Given the description of an element on the screen output the (x, y) to click on. 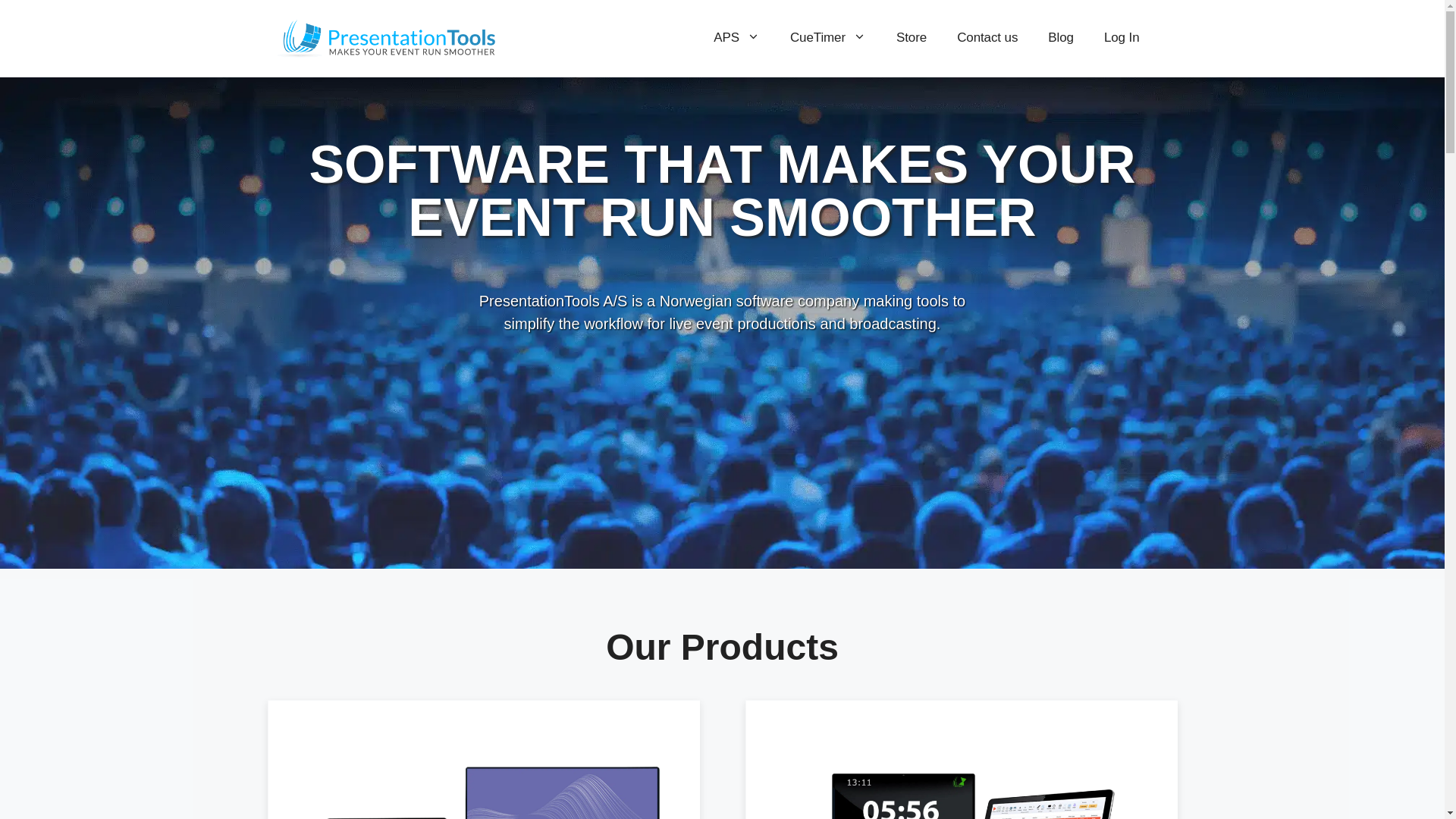
Log In (1121, 38)
APS (736, 38)
Contact us (987, 38)
Blog (1060, 38)
CueTimer (827, 38)
Store (911, 38)
